Given the description of an element on the screen output the (x, y) to click on. 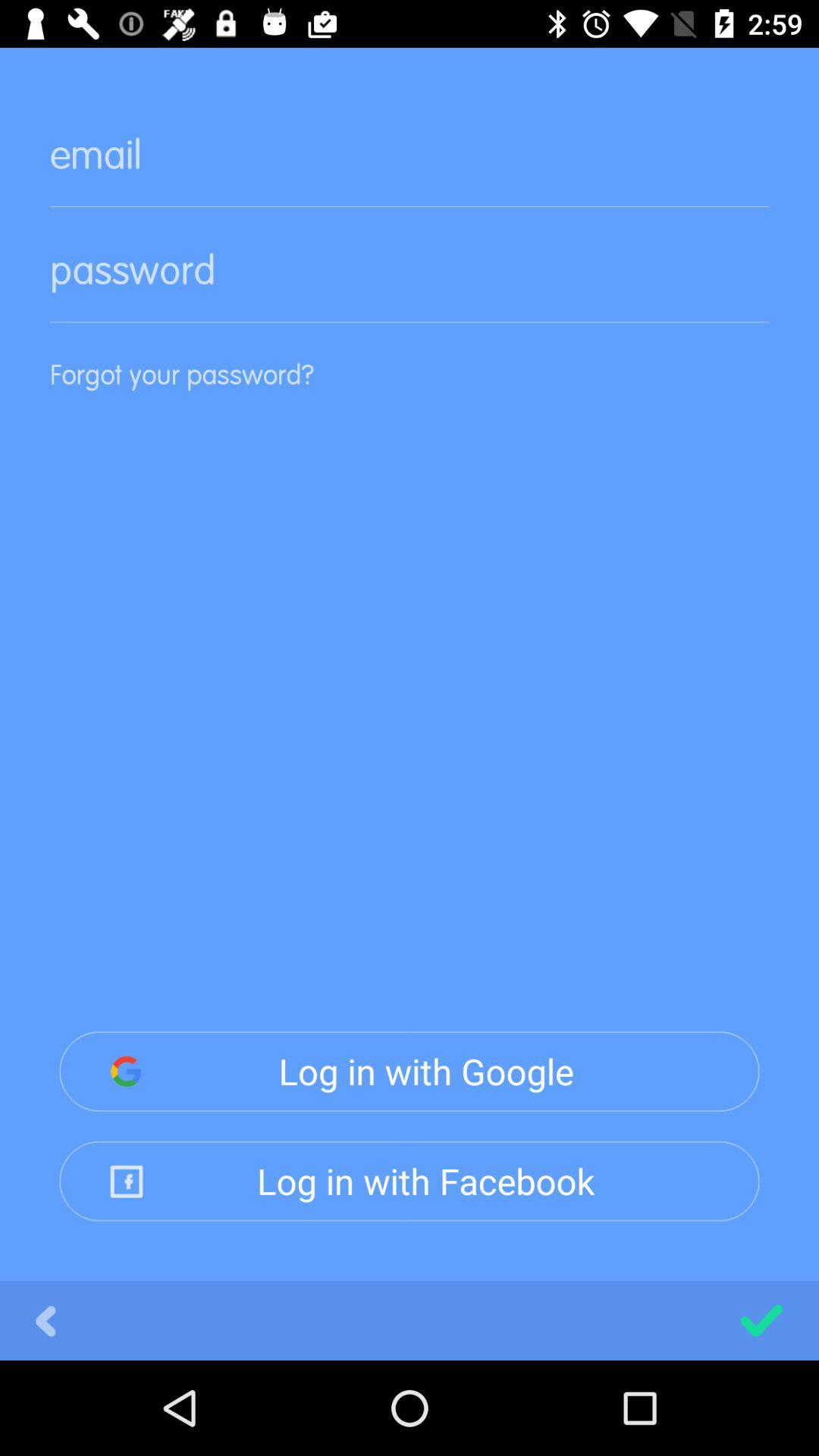
enter email here (409, 167)
